Given the description of an element on the screen output the (x, y) to click on. 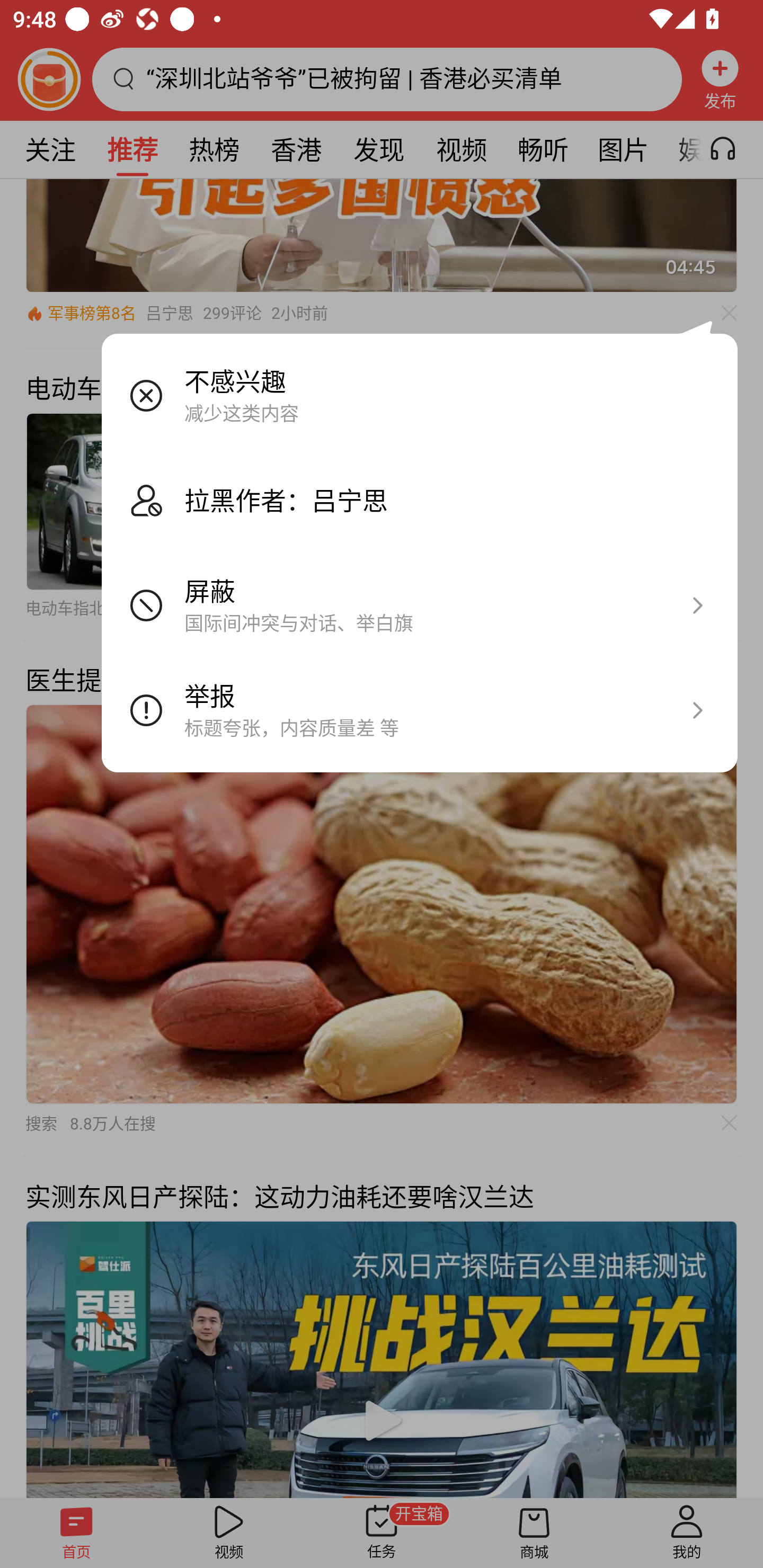
不感兴趣 减少这类内容 (419, 395)
拉黑作者：吕宁思 (419, 500)
屏蔽 国际间冲突与对话、举白旗 (419, 605)
举报 标题夸张，内容质量差 等 (419, 710)
